Given the description of an element on the screen output the (x, y) to click on. 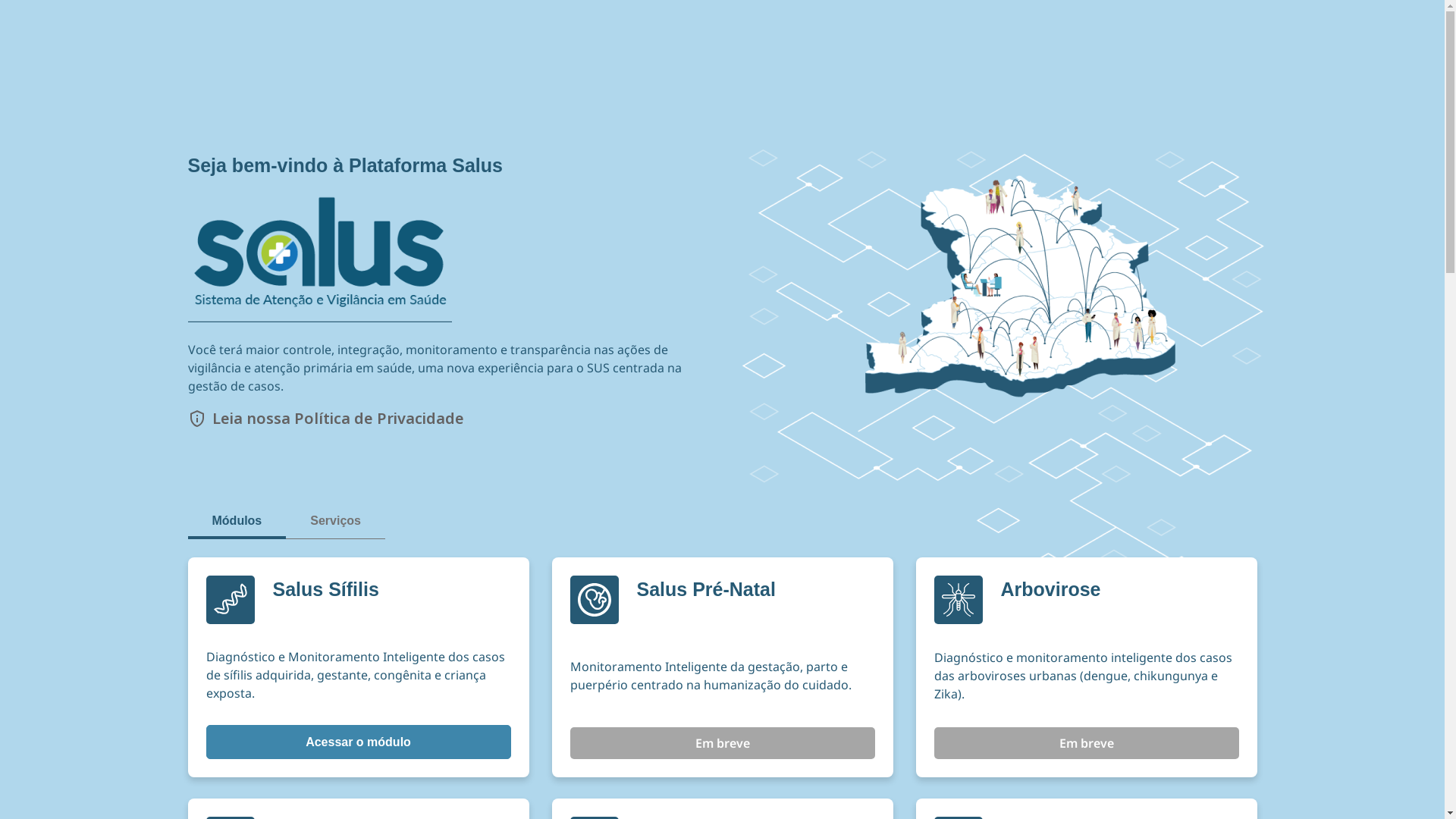
Em breve Element type: text (1086, 743)
Em breve Element type: text (722, 743)
